Given the description of an element on the screen output the (x, y) to click on. 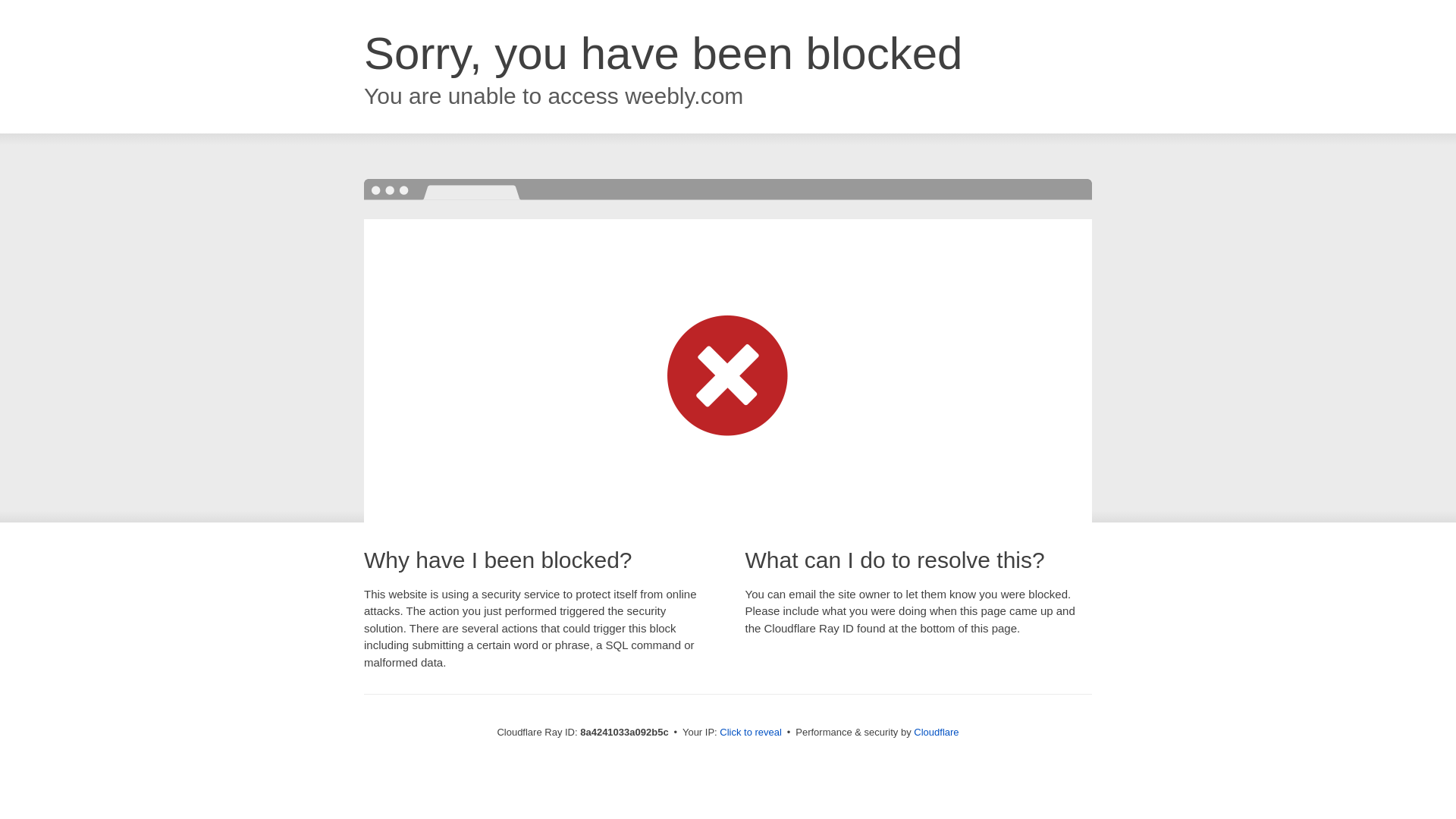
Cloudflare (936, 731)
Click to reveal (750, 732)
